Given the description of an element on the screen output the (x, y) to click on. 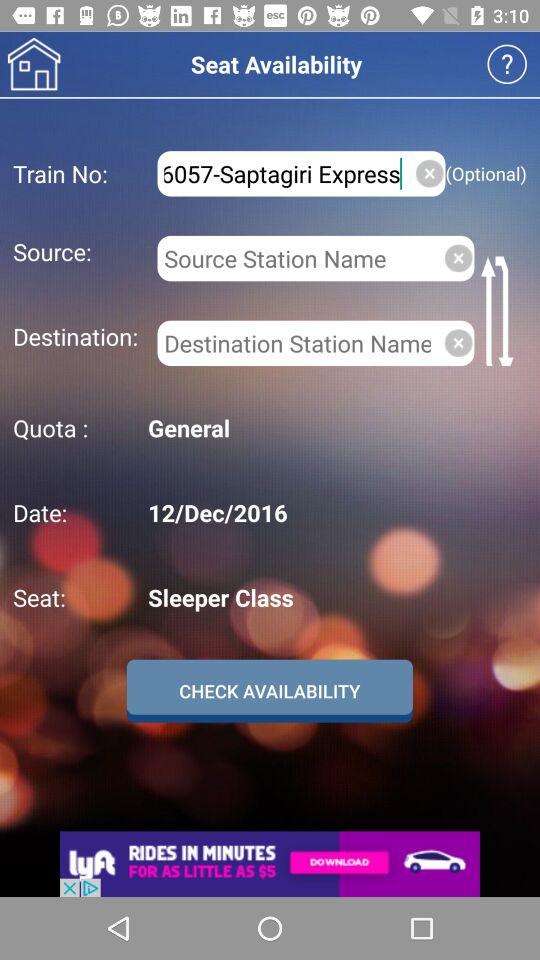
an advertisement (270, 864)
